Given the description of an element on the screen output the (x, y) to click on. 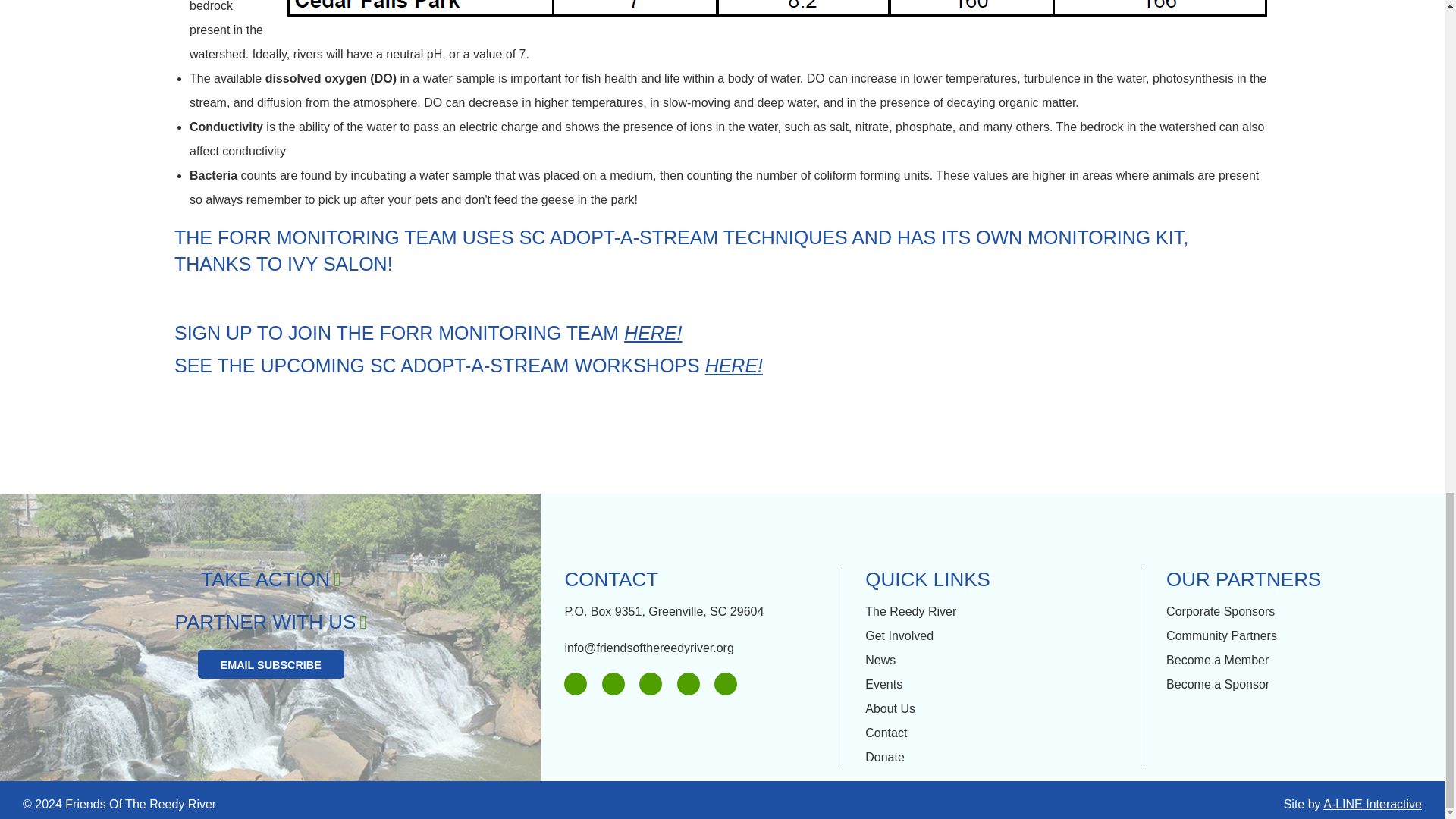
TAKE ACTION (270, 579)
HERE! (733, 364)
P.O. Box 9351, Greenville, SC 29604 (663, 611)
HERE! (652, 332)
Custom Website Design (1372, 803)
PARTNER WITH US (270, 621)
EMAIL SUBSCRIBE (270, 664)
